Given the description of an element on the screen output the (x, y) to click on. 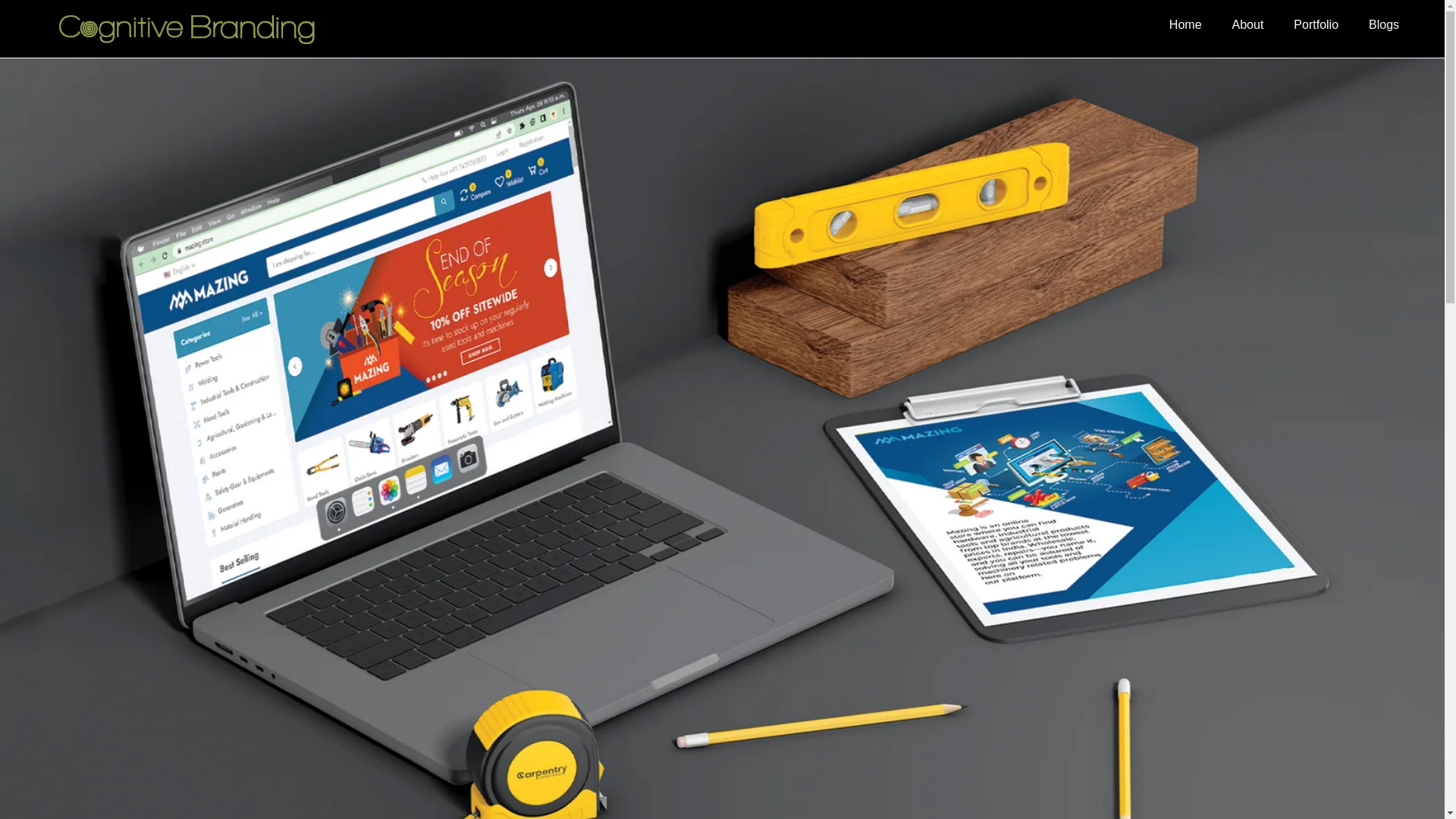
Home (1185, 24)
Portfolio (1316, 24)
Blogs (1383, 24)
About (1248, 24)
